Given the description of an element on the screen output the (x, y) to click on. 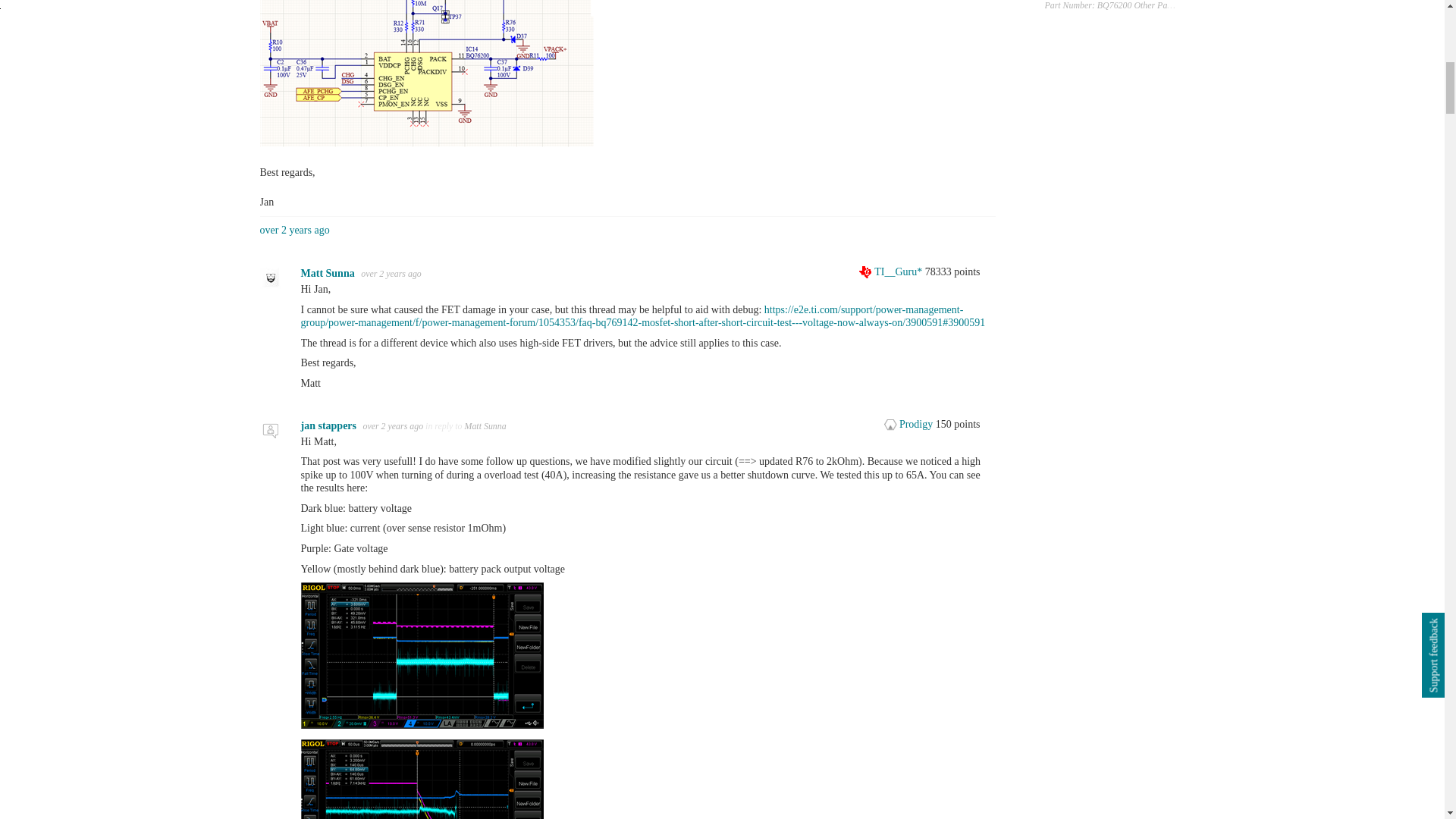
Click here for explanation of levels (891, 271)
Click here for explanation of levels (909, 423)
